Given the description of an element on the screen output the (x, y) to click on. 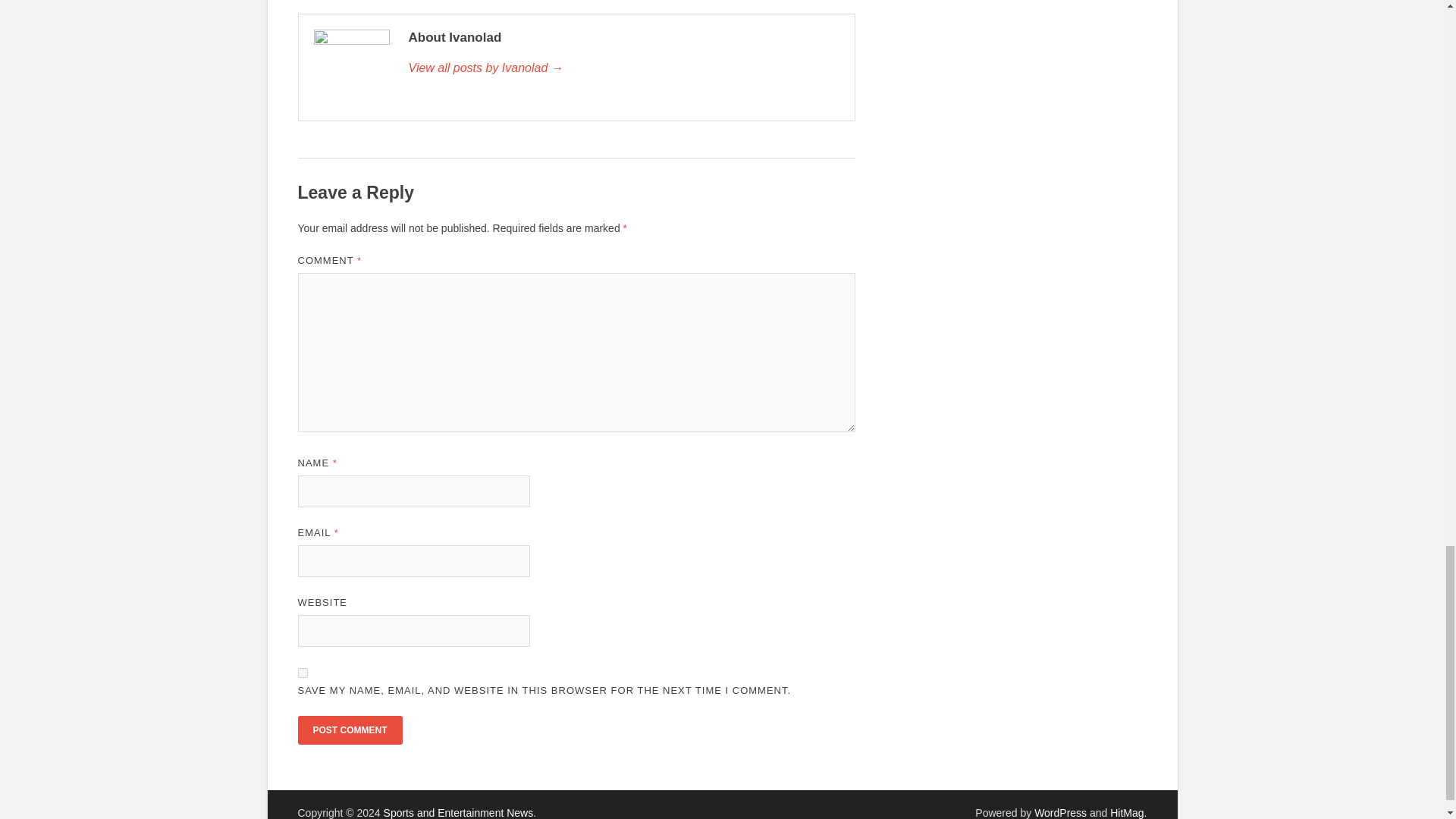
yes (302, 673)
Post Comment (349, 729)
Ivanolad (622, 67)
